Given the description of an element on the screen output the (x, y) to click on. 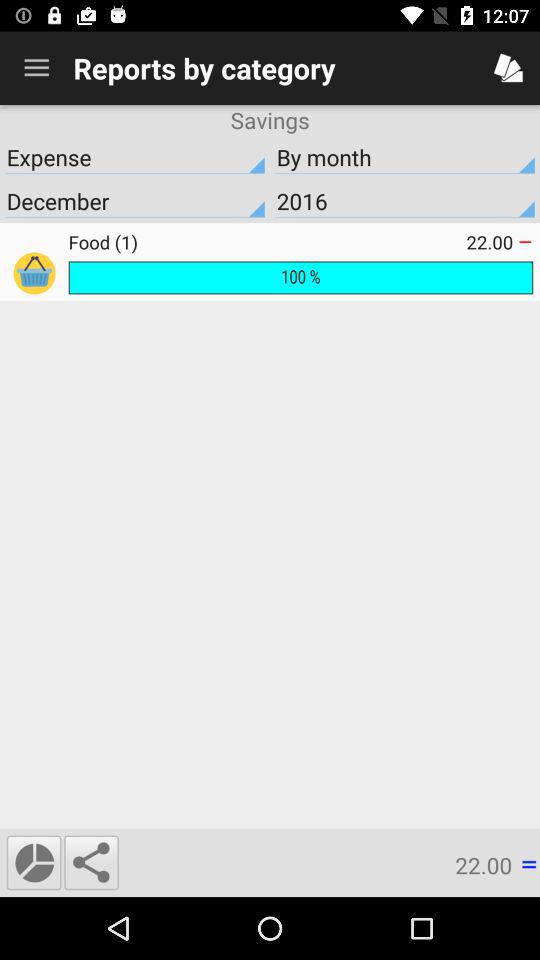
choose item below savings item (135, 157)
